Given the description of an element on the screen output the (x, y) to click on. 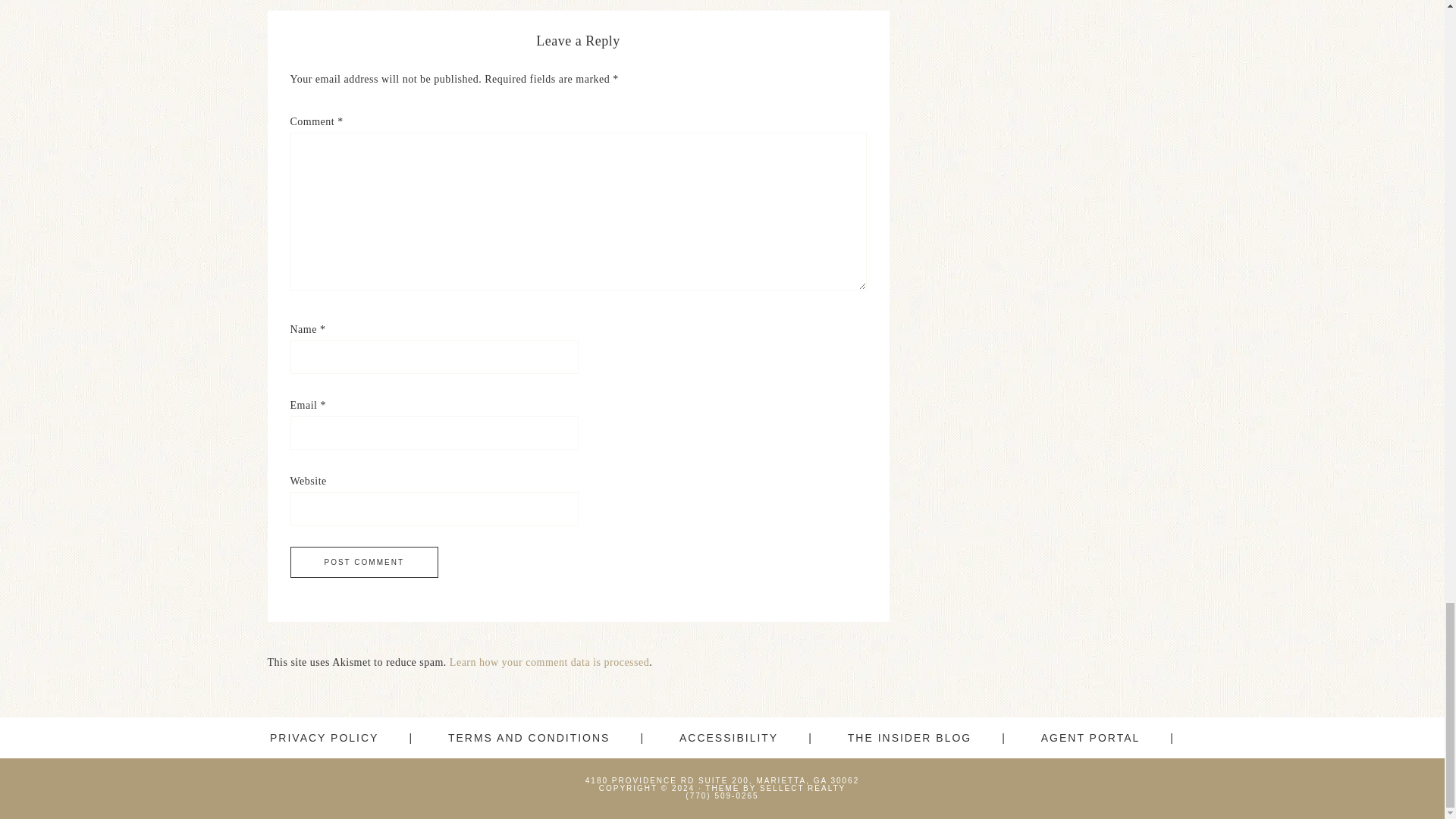
Post Comment (363, 562)
Post Comment (363, 562)
Learn how your comment data is processed (549, 662)
